Given the description of an element on the screen output the (x, y) to click on. 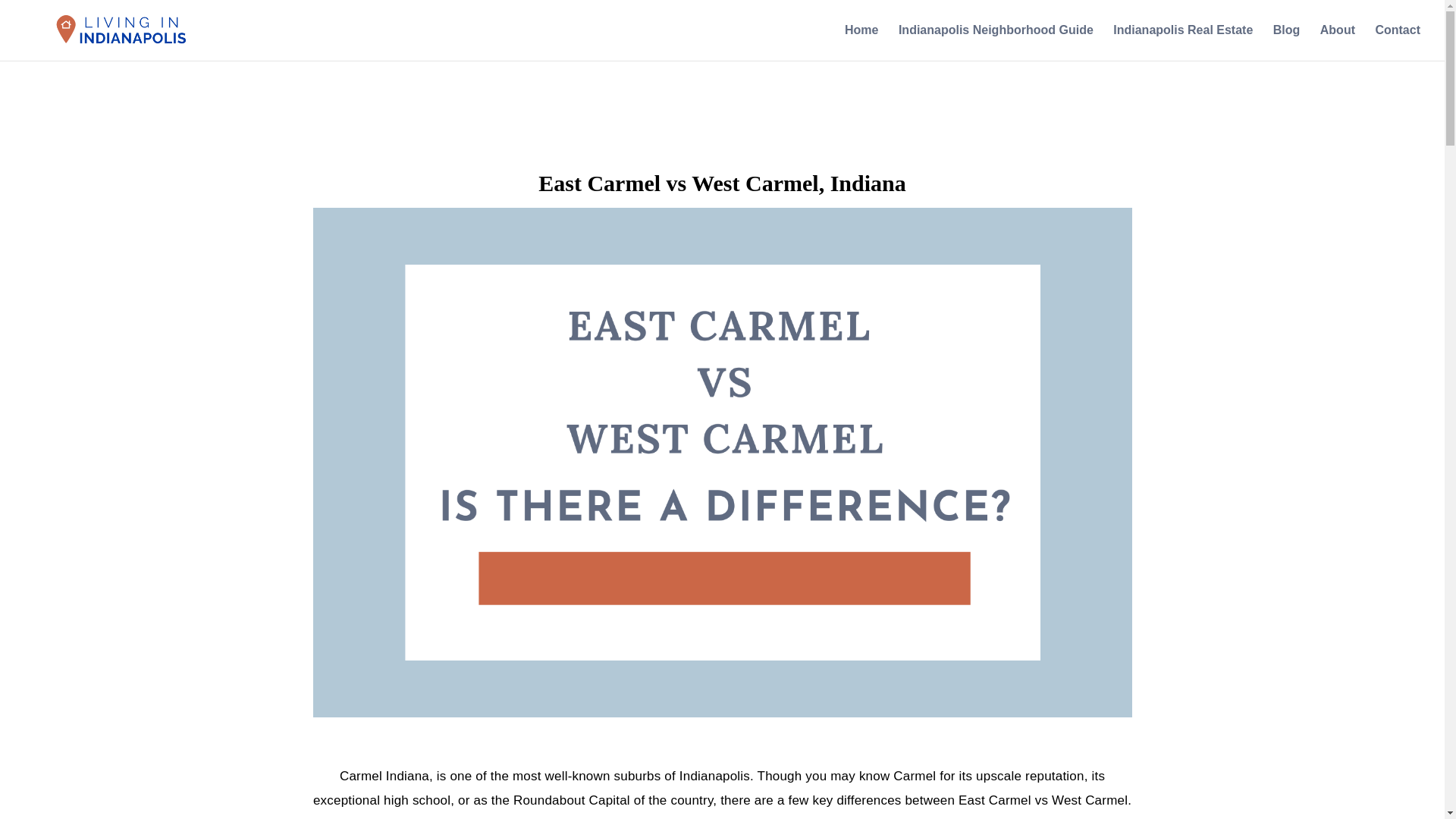
Indianapolis Neighborhood Guide (995, 42)
Home (860, 42)
Contact (1397, 42)
Indianapolis Real Estate (1182, 42)
About (1337, 42)
